Given the description of an element on the screen output the (x, y) to click on. 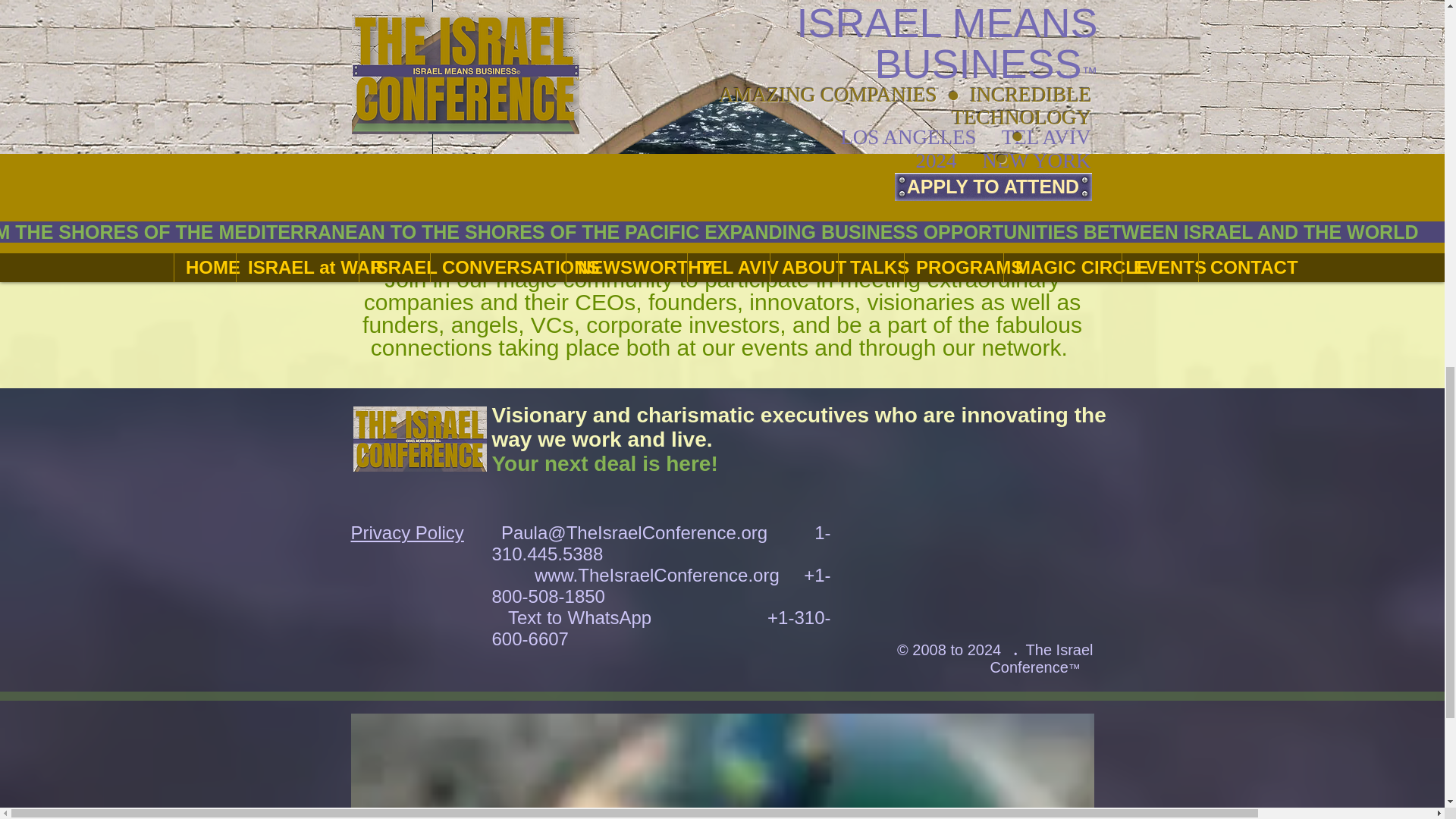
www.TheIsraelConference.org (656, 575)
Send (974, 241)
Privacy Policy (406, 532)
